Given the description of an element on the screen output the (x, y) to click on. 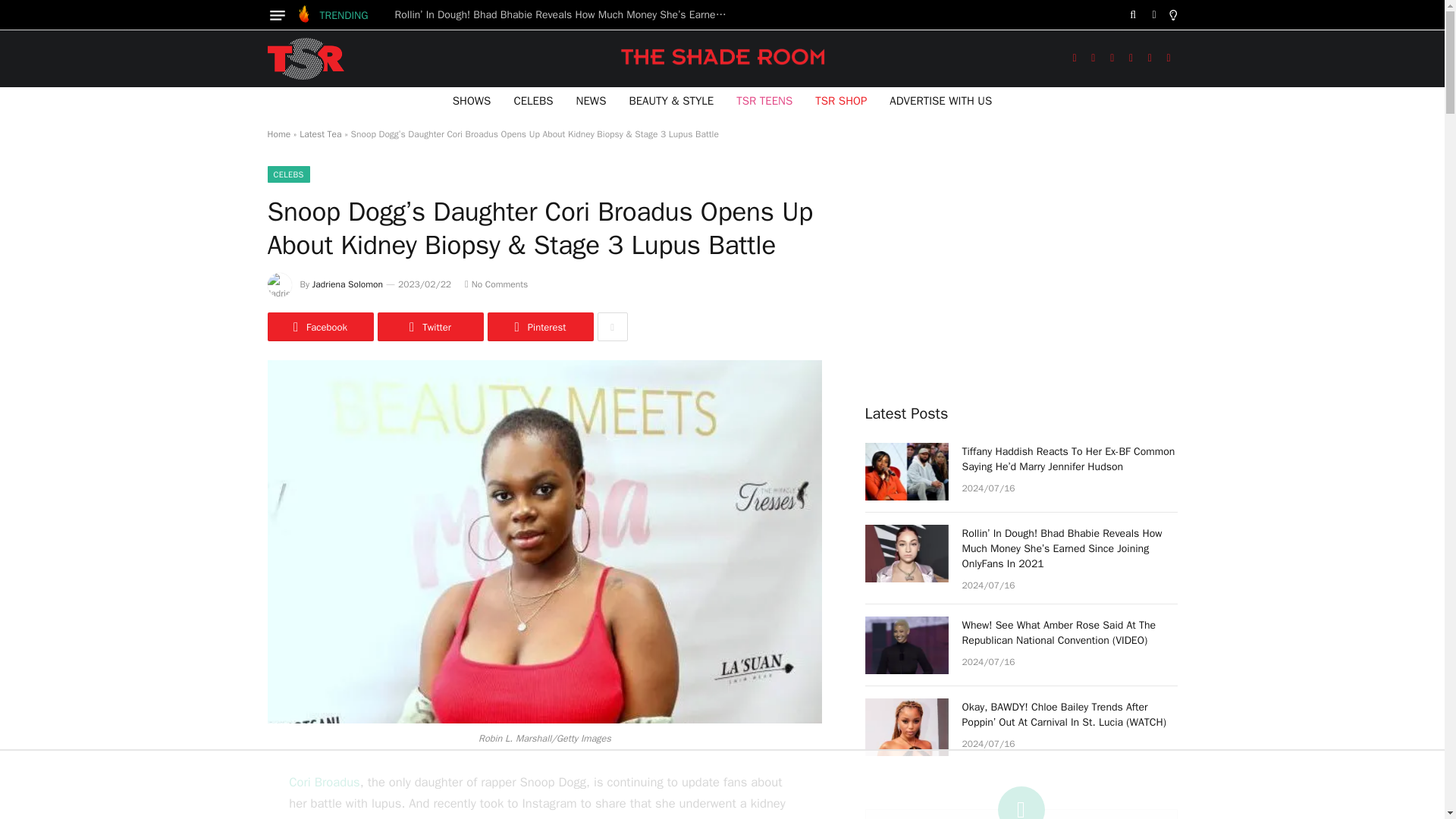
The Shade Room (304, 58)
SHOWS (471, 99)
Show More Social Sharing (611, 326)
Share on Facebook (319, 326)
Share on Pinterest (539, 326)
Posts by Jadriena Solomon (347, 284)
Switch to Dark Design - easier on eyes. (1153, 14)
